Given the description of an element on the screen output the (x, y) to click on. 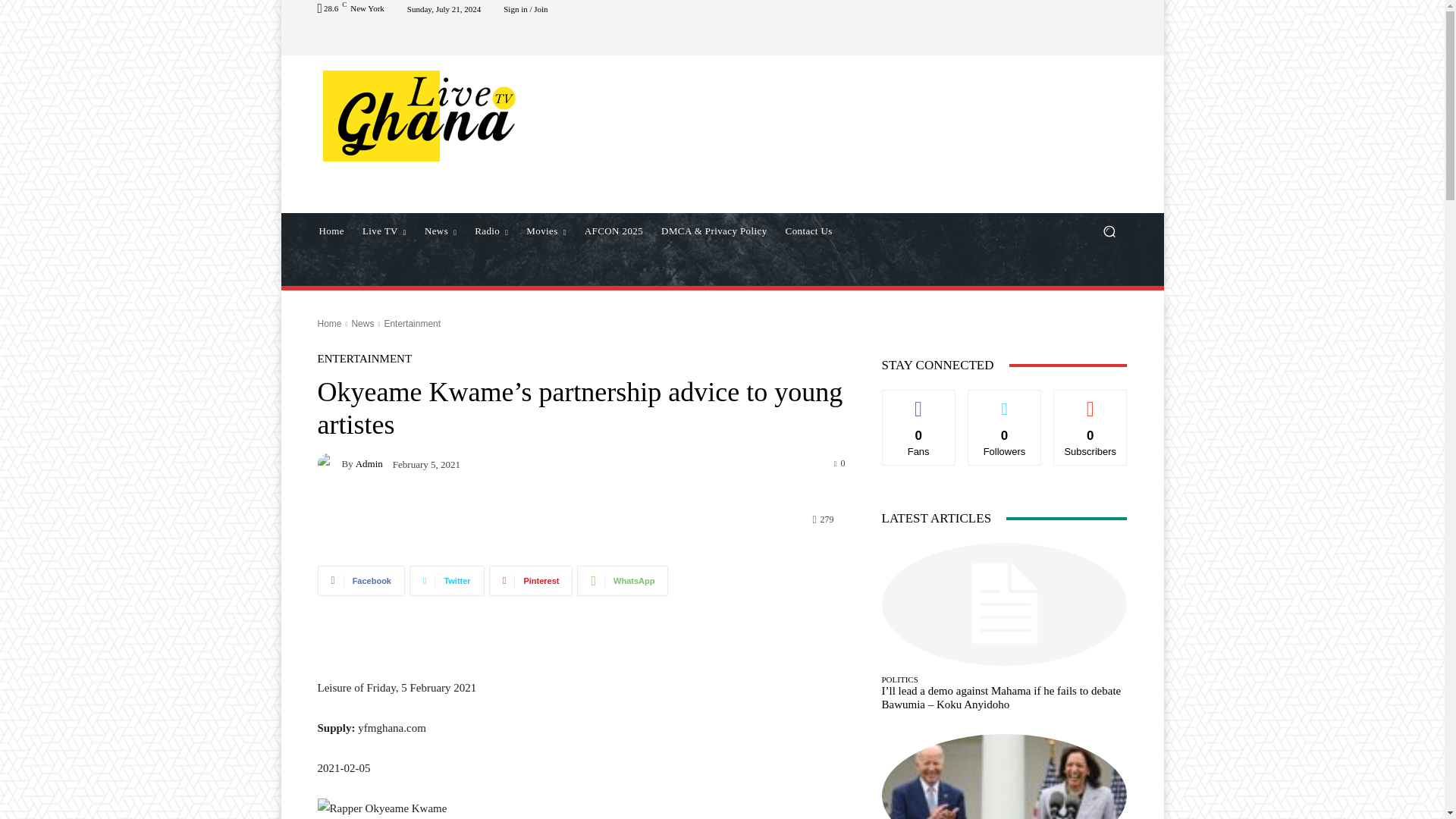
Twitter (446, 580)
admin (328, 463)
View all posts in Entertainment (412, 323)
View all posts in News (362, 323)
Rapper Okyeame Kwame (428, 808)
Facebook (360, 580)
Pinterest (531, 580)
WhatsApp (622, 580)
